Given the description of an element on the screen output the (x, y) to click on. 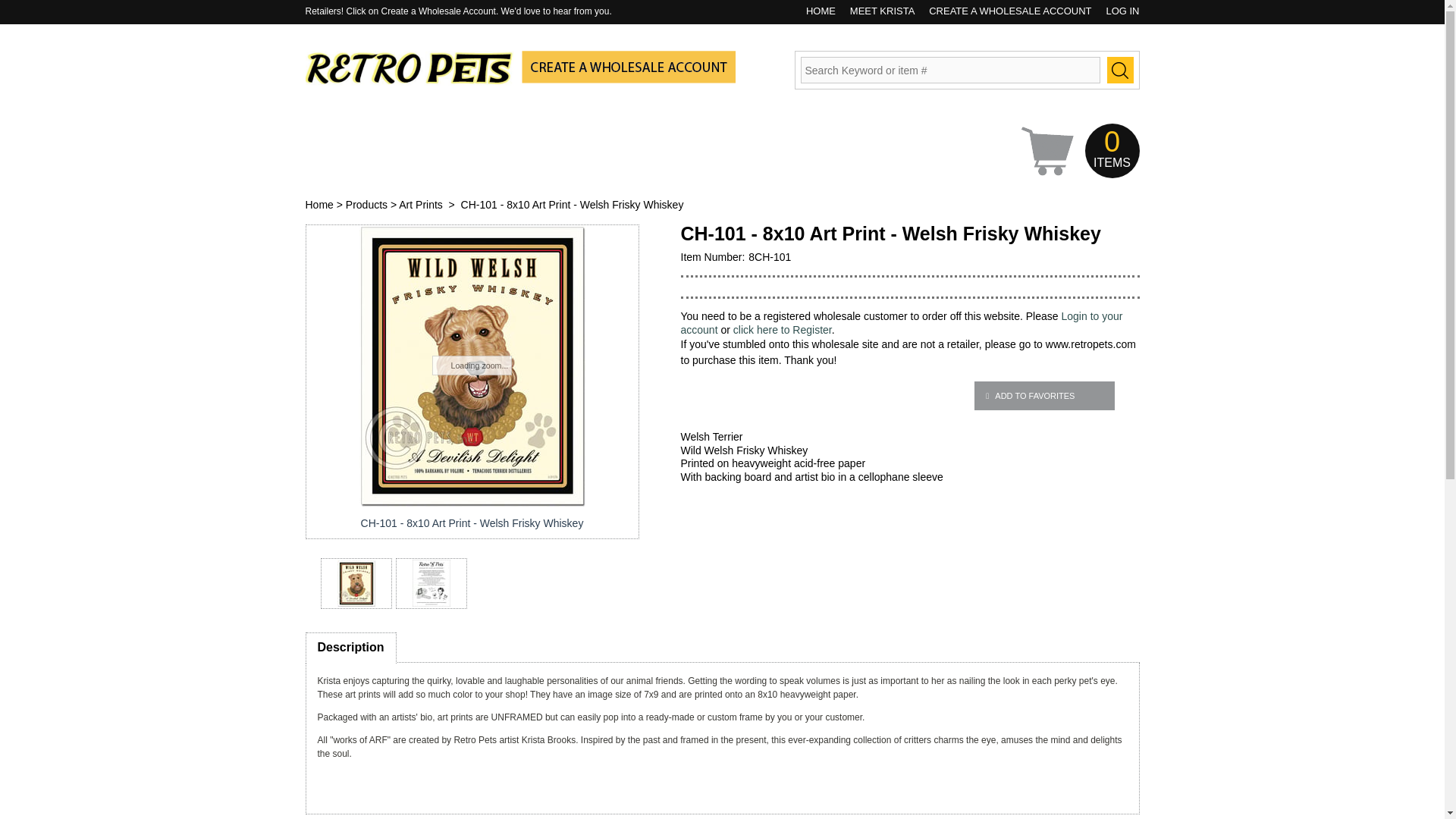
Retro Pets Wholesale (408, 82)
Login to your account (901, 322)
click here to Register (782, 329)
MEET KRISTA (876, 10)
Home (318, 204)
HOME (814, 10)
Products (366, 204)
Description (350, 646)
CREATE A WHOLESALE ACCOUNT (1003, 10)
LOG IN (1116, 10)
Art Prints (420, 204)
CH-101 - 8x10 Art Print - Welsh Frisky Whiskey  (472, 523)
ADD TO FAVORITES (1043, 395)
